Given the description of an element on the screen output the (x, y) to click on. 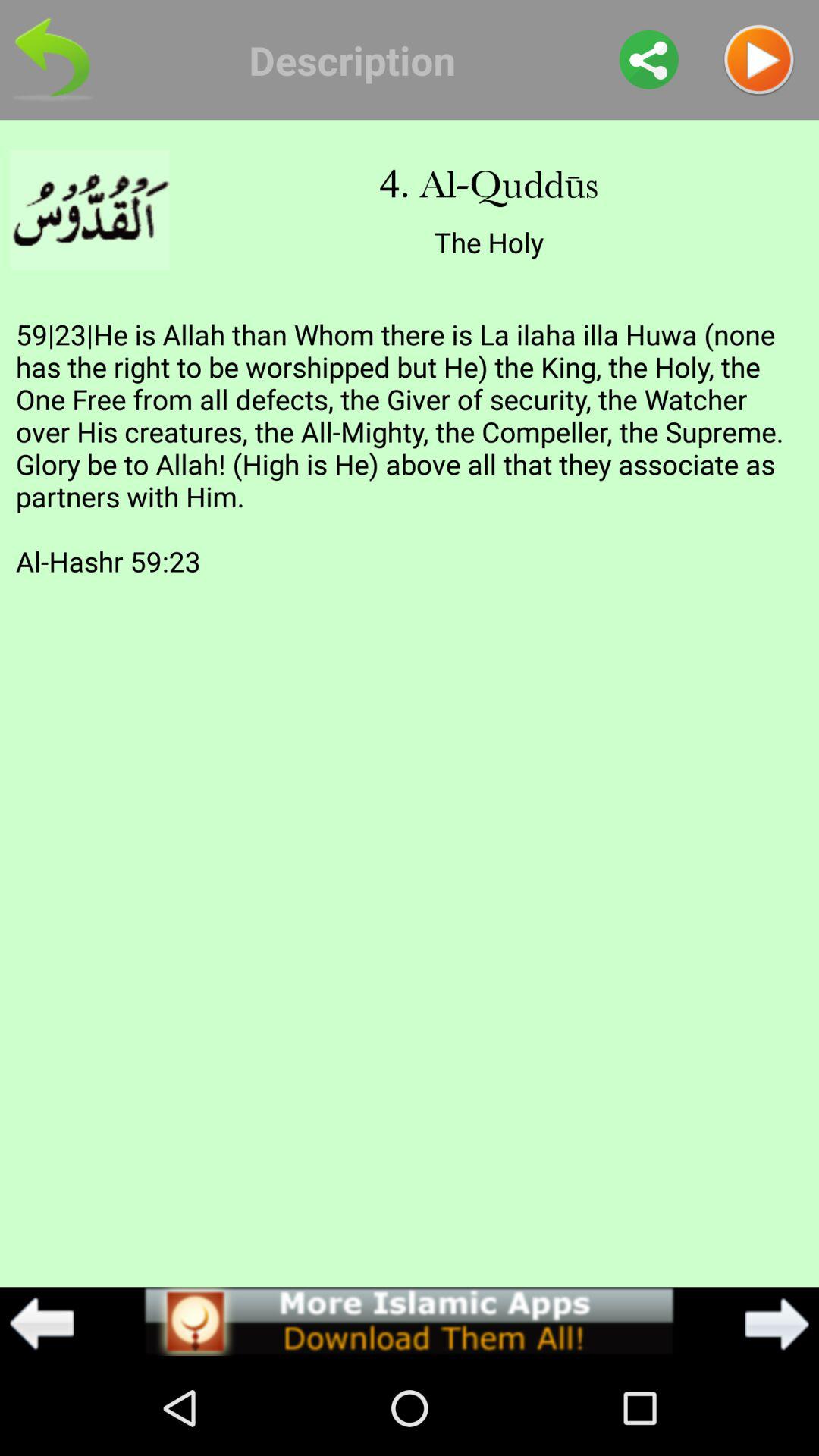
tap item at the bottom left corner (41, 1323)
